Given the description of an element on the screen output the (x, y) to click on. 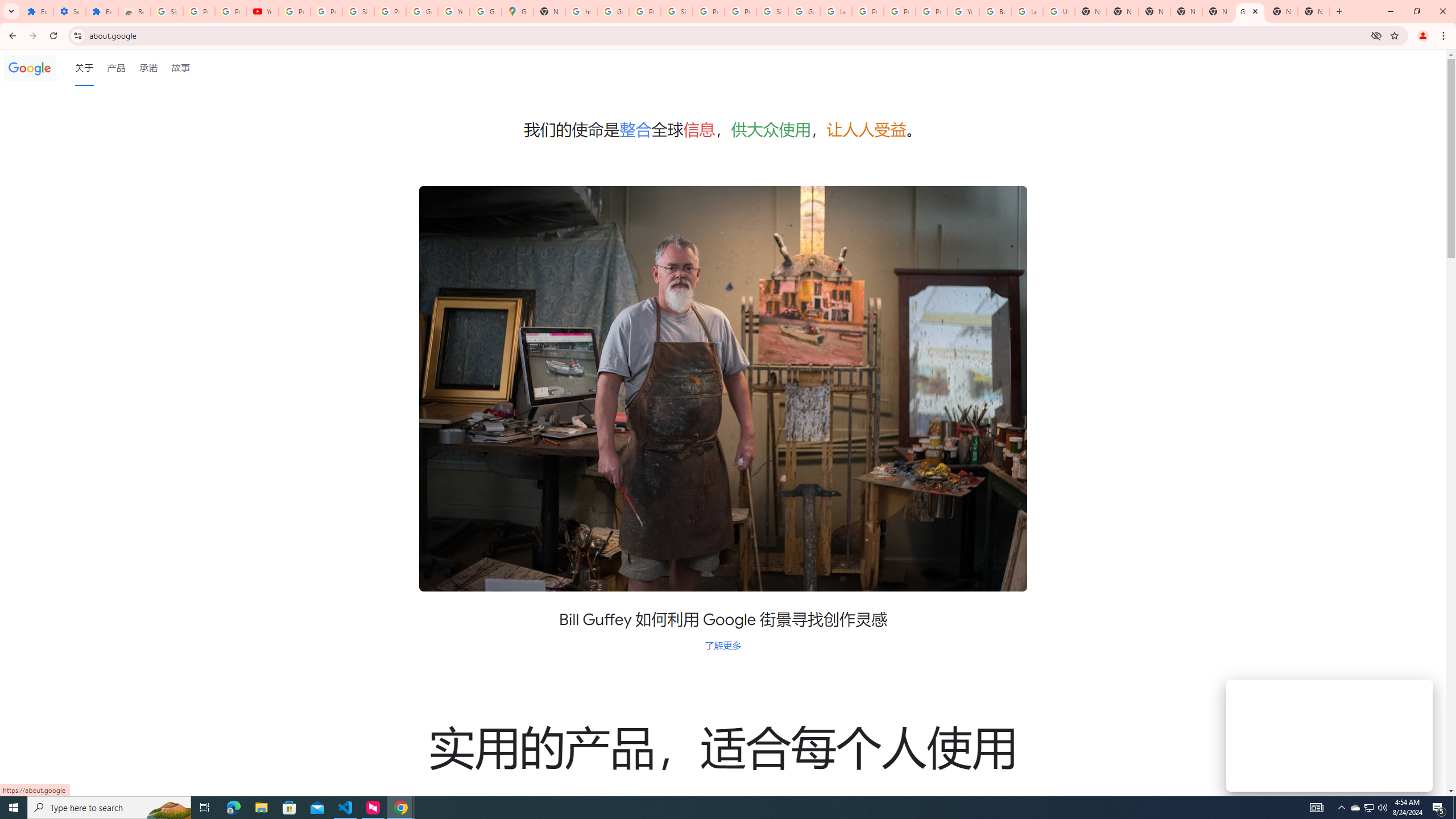
Extensions (101, 11)
Sign in - Google Accounts (358, 11)
Browse Chrome as a guest - Computer - Google Chrome Help (995, 11)
https://scholar.google.com/ (581, 11)
Settings (69, 11)
YouTube (453, 11)
